Given the description of an element on the screen output the (x, y) to click on. 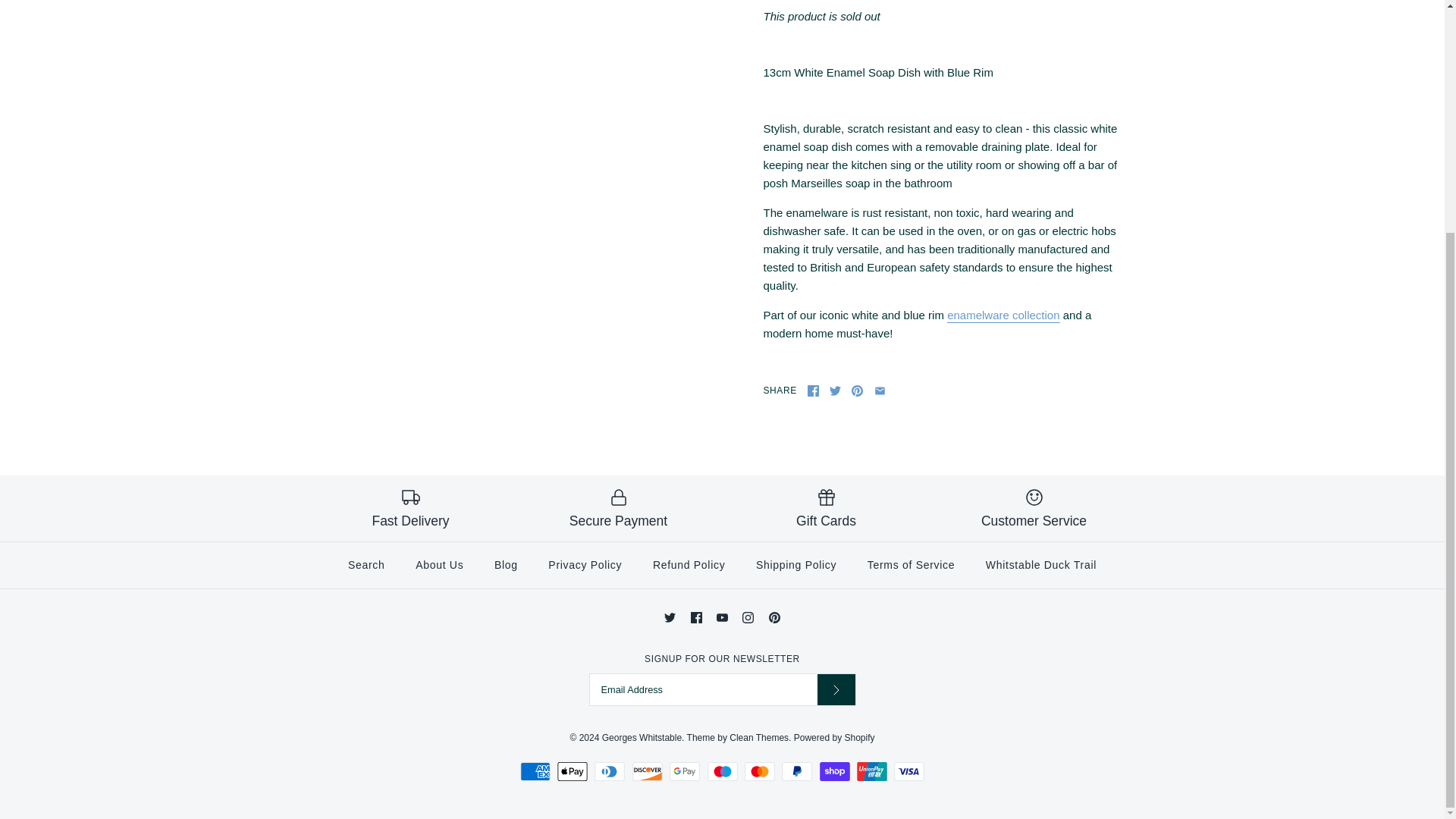
Pinterest (774, 617)
Pin the main image (857, 390)
Share using email (880, 390)
Twitter (669, 617)
Enamelware Collection (1003, 315)
Share on Facebook (813, 390)
Facebook (695, 617)
Email (880, 390)
Pinterest (857, 390)
Twitter (835, 390)
Youtube (722, 617)
Facebook (813, 390)
Share on Twitter (835, 390)
Soap Dish White Enamel (473, 109)
Instagram (748, 617)
